Given the description of an element on the screen output the (x, y) to click on. 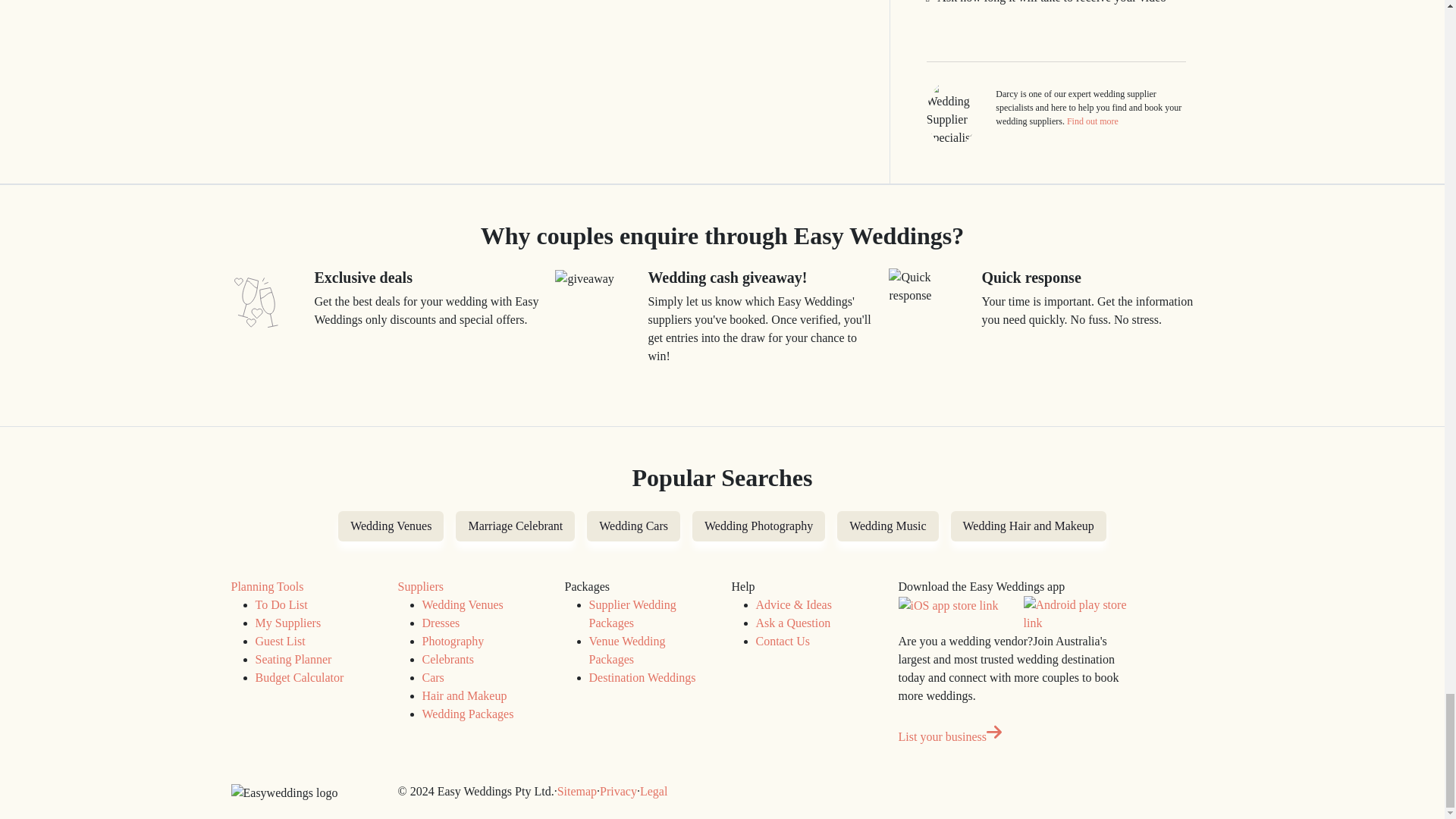
Quick response (930, 286)
find out more (1092, 121)
Android play store link (1077, 614)
iOS app store link (947, 606)
giveaway (583, 279)
Exclusive deals (255, 302)
